Given the description of an element on the screen output the (x, y) to click on. 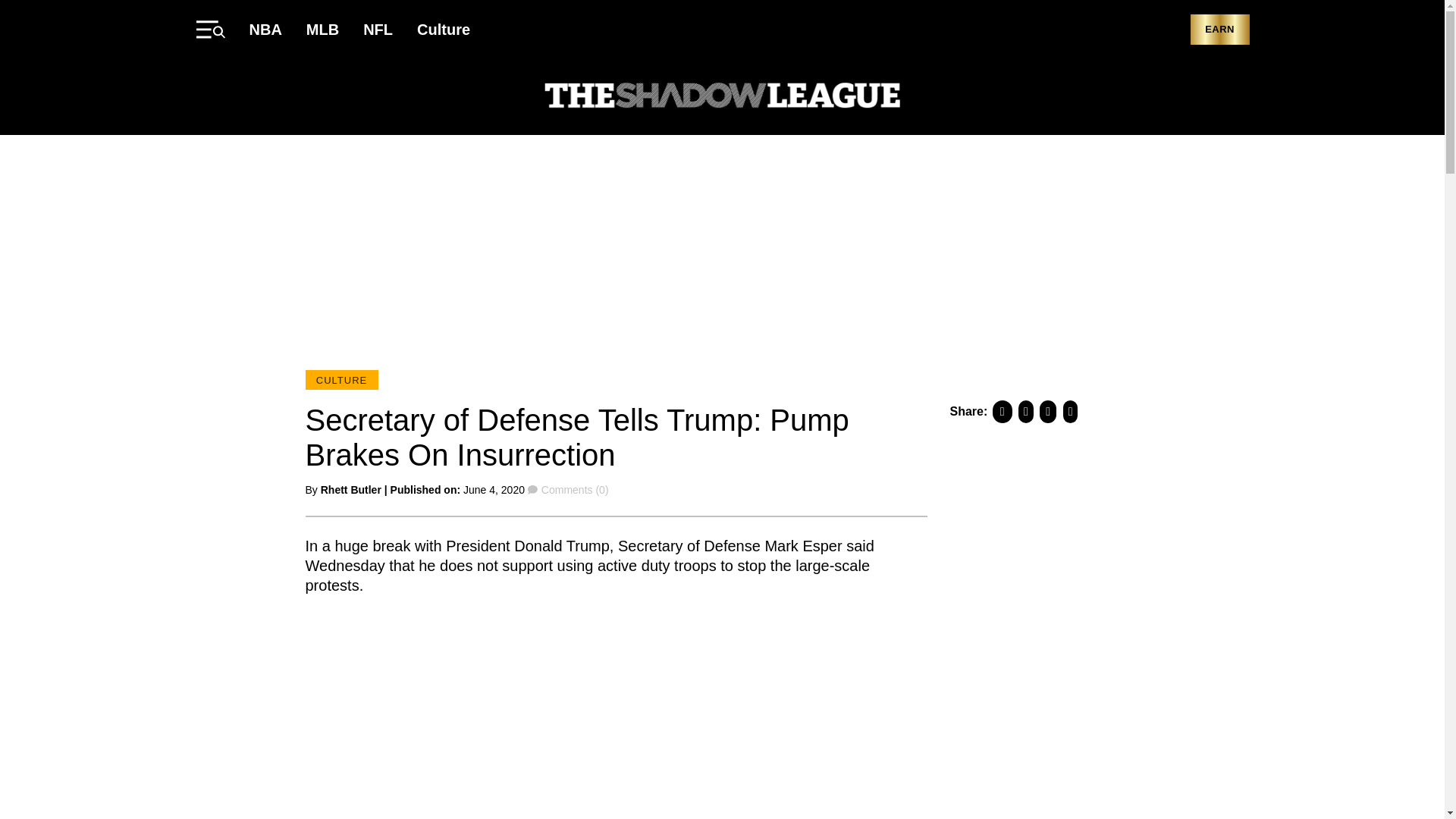
EARN (1220, 29)
Culture (443, 29)
Rhett Butler (350, 490)
NFL (377, 29)
MLB (322, 29)
The Shadow League (721, 96)
CULTURE (340, 379)
NBA (264, 29)
